Given the description of an element on the screen output the (x, y) to click on. 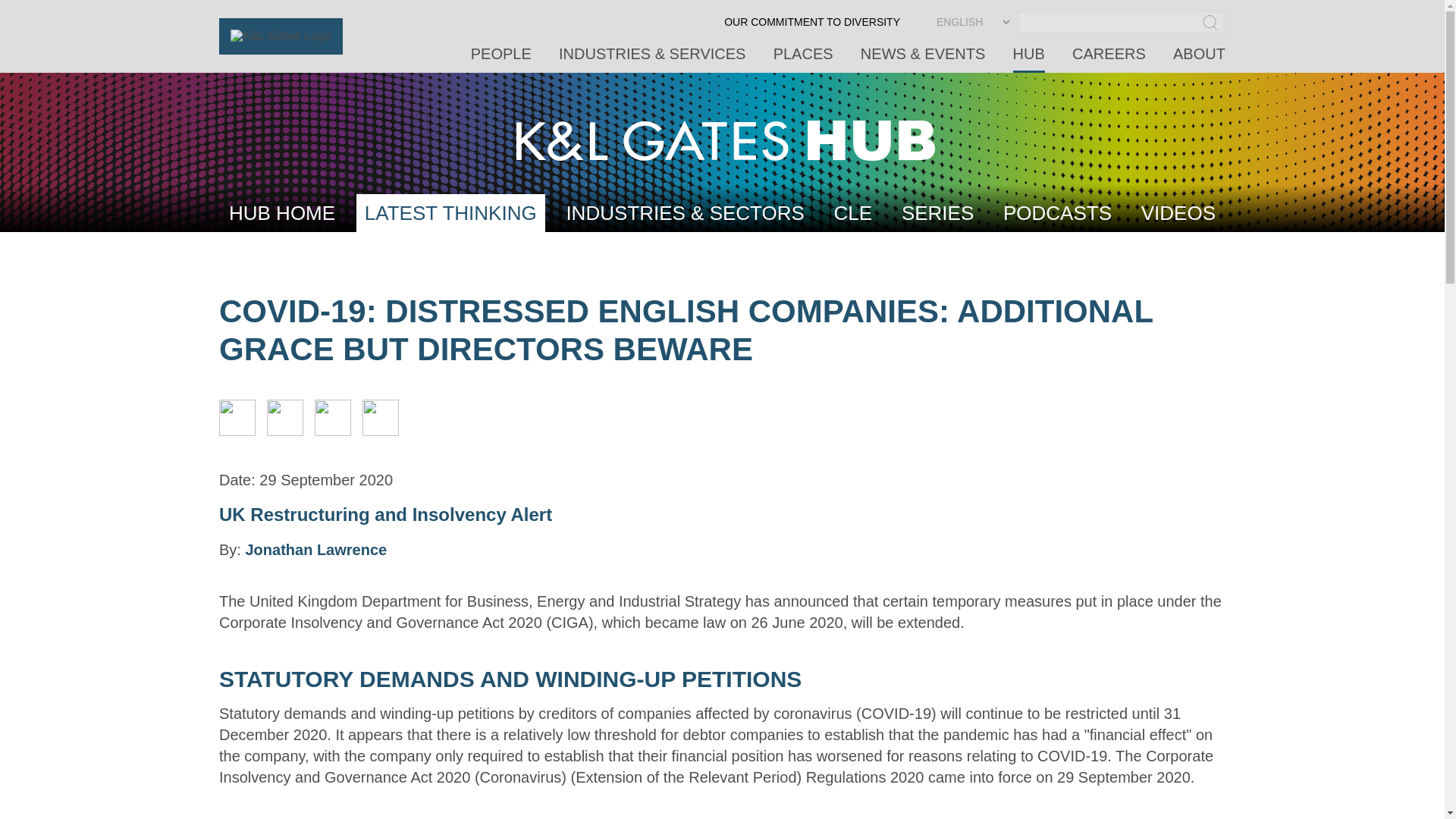
PEOPLE (500, 58)
Share via Twitter (284, 431)
HUB HOME (282, 212)
Share via LinkedIn (237, 431)
Share via Facebook (332, 431)
SERIES (937, 212)
Jonathan Lawrence (315, 549)
ABOUT (1199, 58)
CAREERS (1108, 58)
HUB (1029, 58)
